Given the description of an element on the screen output the (x, y) to click on. 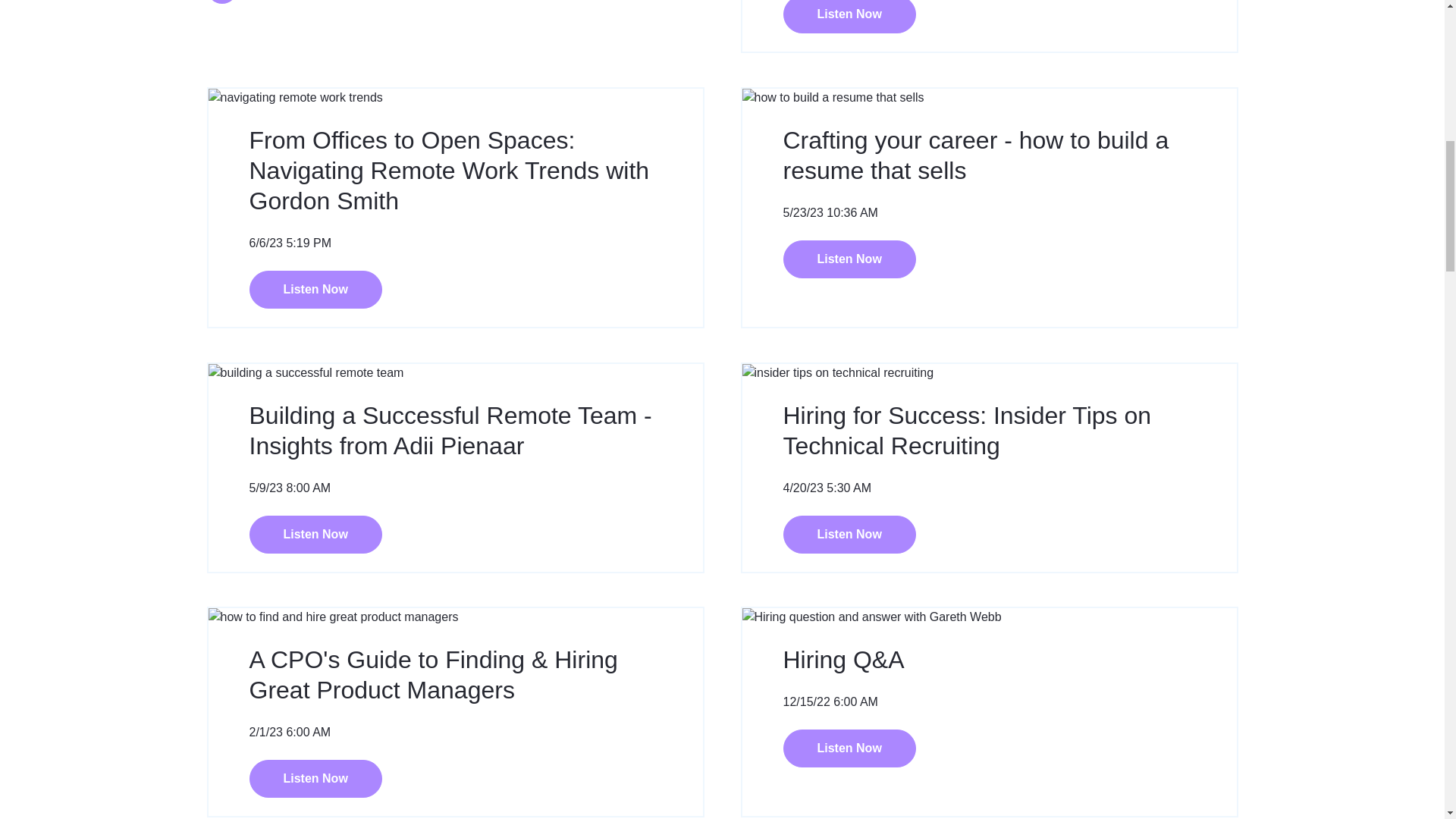
Crafting your career - how to build a resume that sells (976, 155)
Listen Now (314, 534)
Listen Now (849, 259)
Listen Now (849, 534)
Listen Now (849, 16)
Hiring for Success: Insider Tips on Technical Recruiting (967, 430)
Listen Now (314, 289)
Listen Now (849, 748)
Listen Now (314, 778)
